Given the description of an element on the screen output the (x, y) to click on. 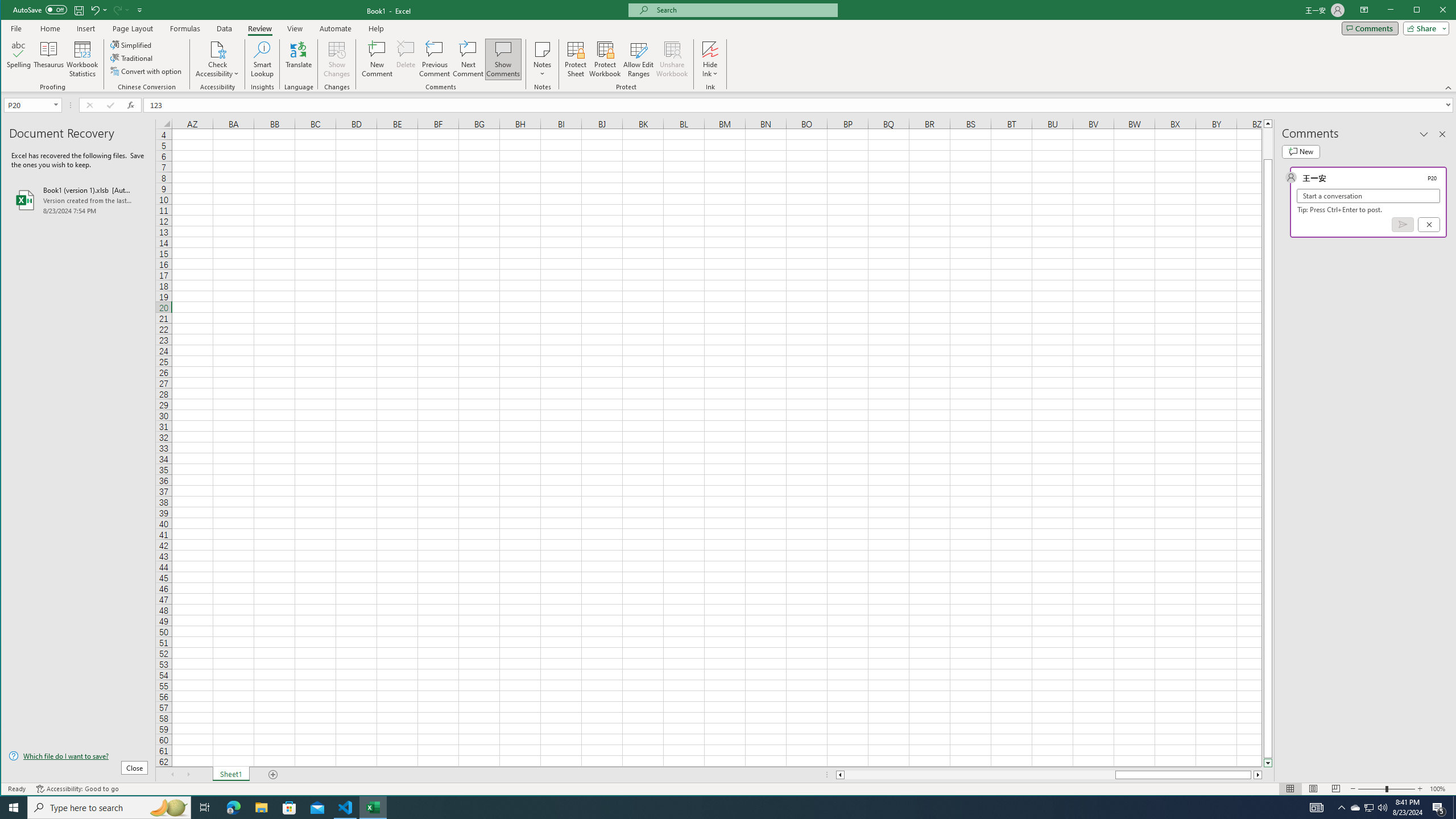
Traditional (132, 57)
Check Accessibility (217, 48)
New comment (1300, 151)
Check Accessibility (217, 59)
Unshare Workbook (671, 59)
Start a conversation (1368, 195)
